Given the description of an element on the screen output the (x, y) to click on. 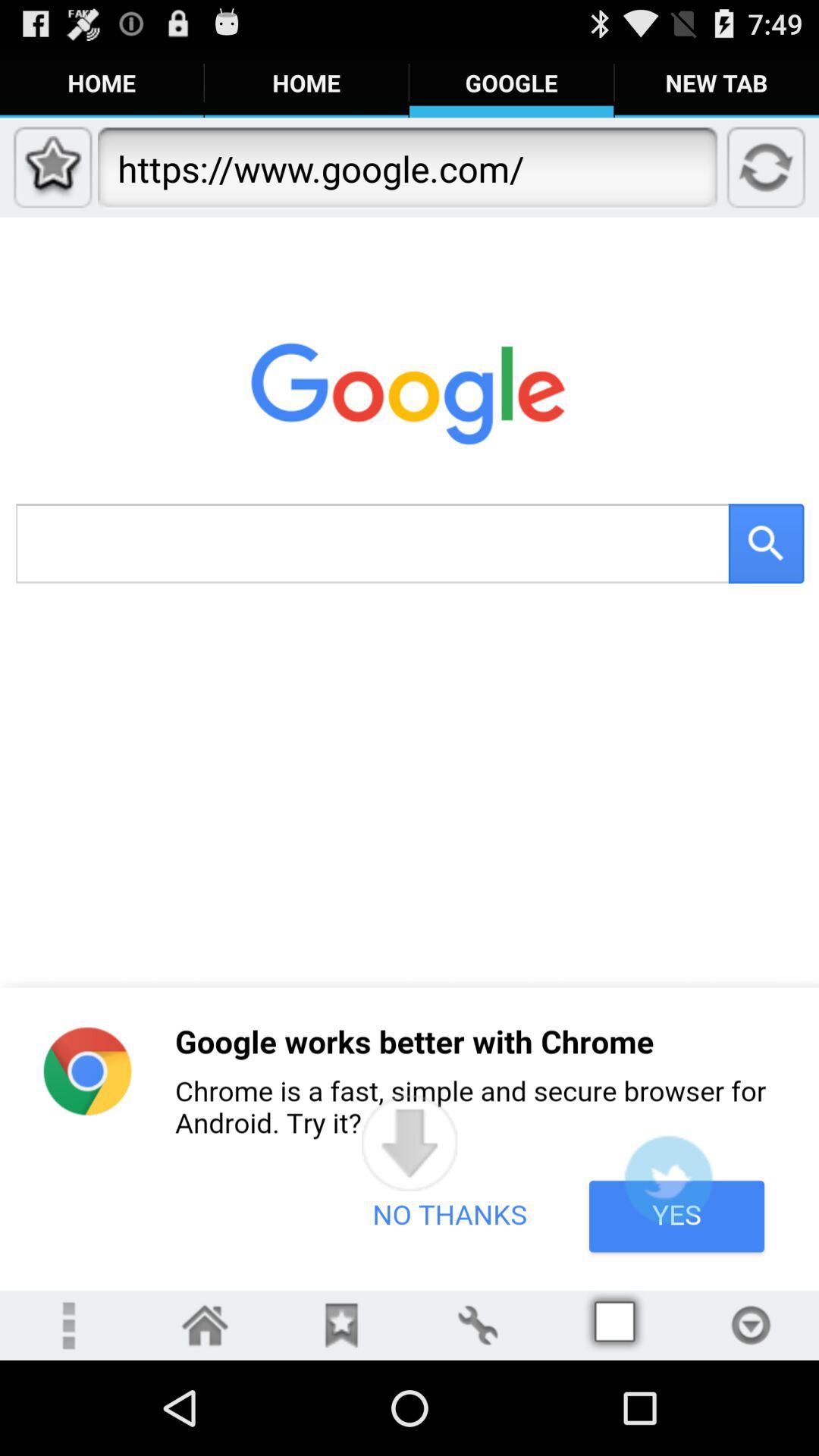
go home (204, 1325)
